Given the description of an element on the screen output the (x, y) to click on. 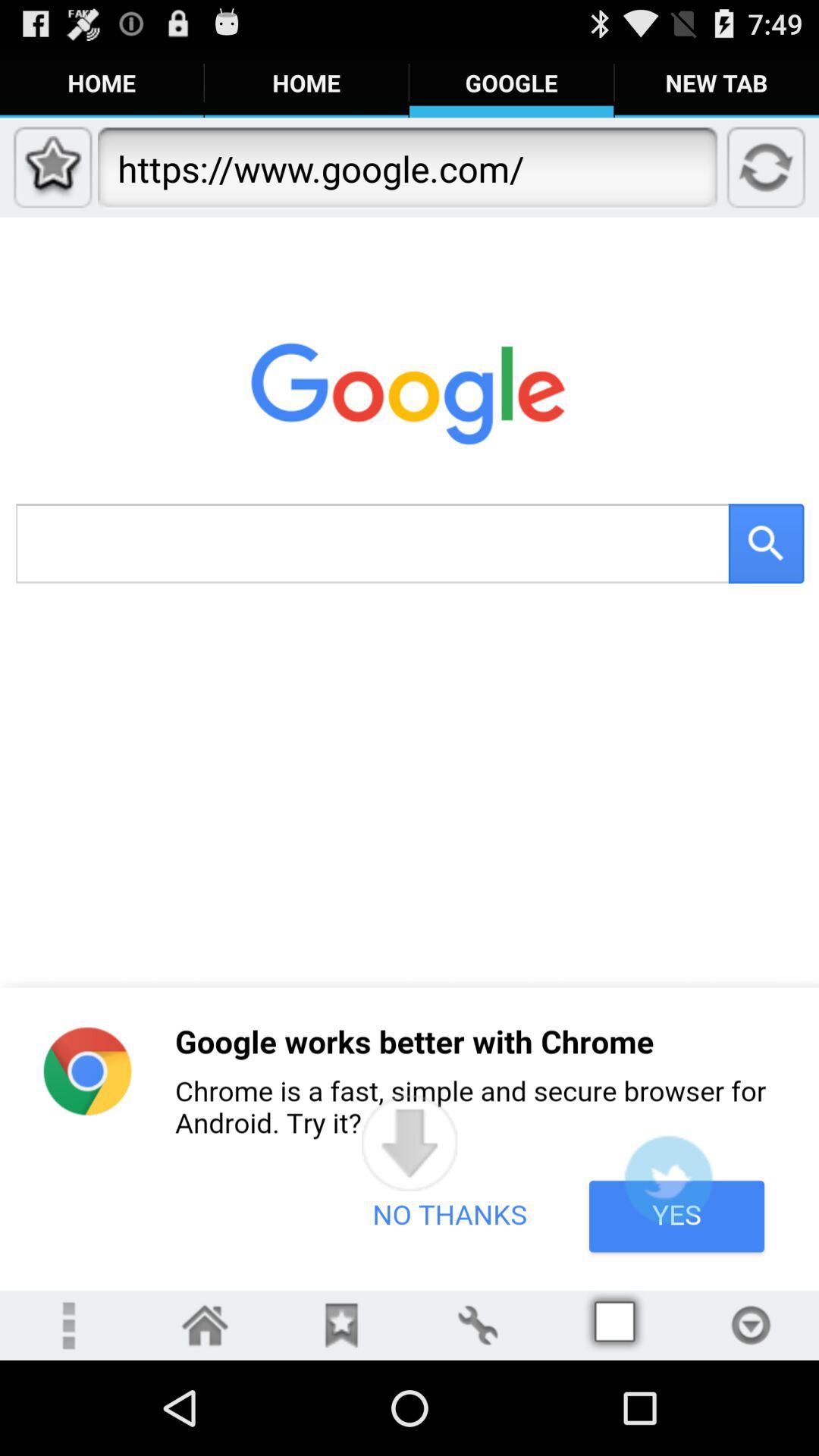
go home (204, 1325)
